Given the description of an element on the screen output the (x, y) to click on. 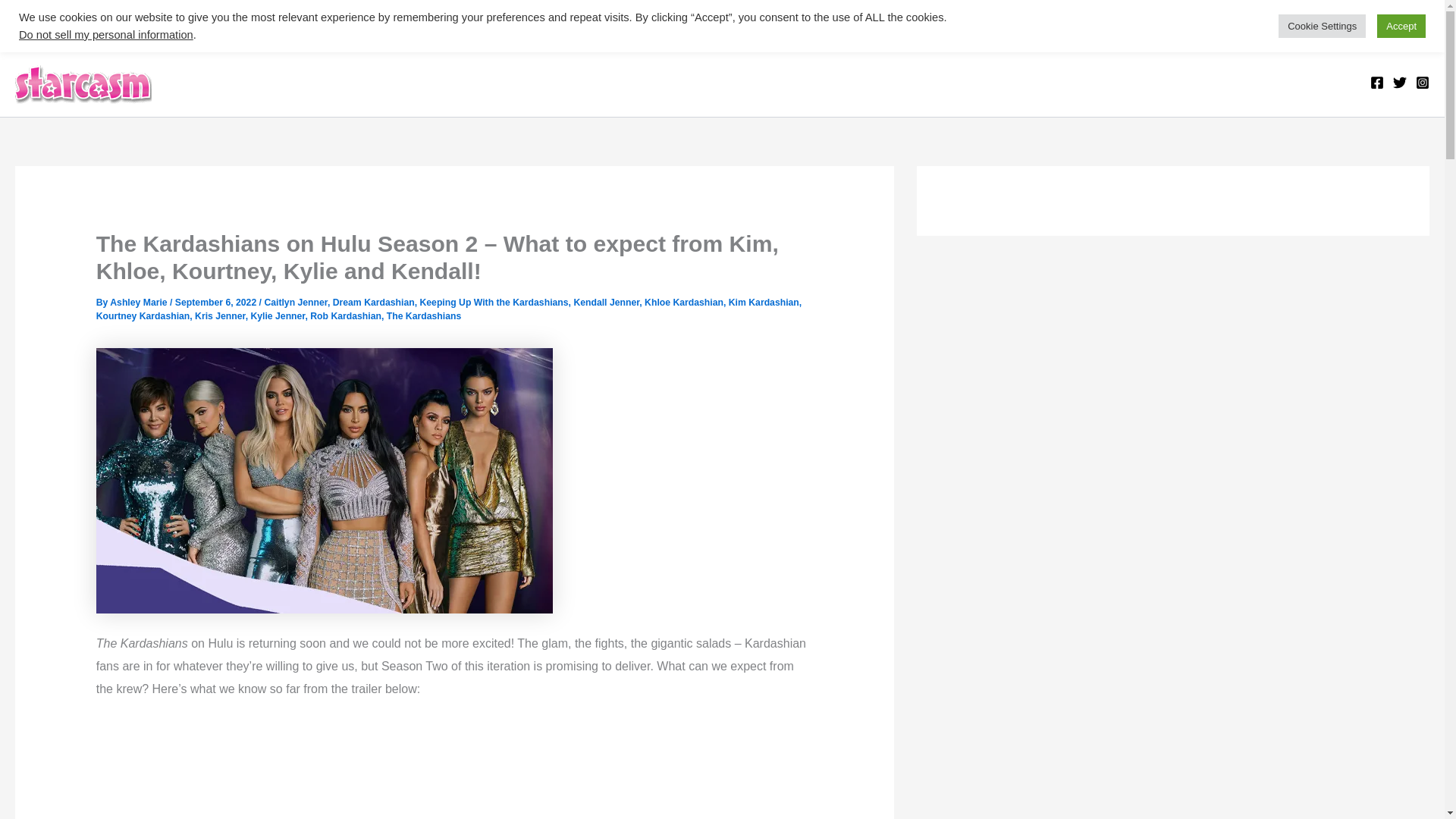
Kardashians on Hulu Season 2 (324, 480)
Home (188, 22)
TOP CATEGORIES (87, 22)
Dream Kardashian (373, 302)
Caitlyn Jenner (295, 302)
Search Button (1415, 31)
View all posts by Ashley Marie (140, 302)
Ashley Marie (140, 302)
